Given the description of an element on the screen output the (x, y) to click on. 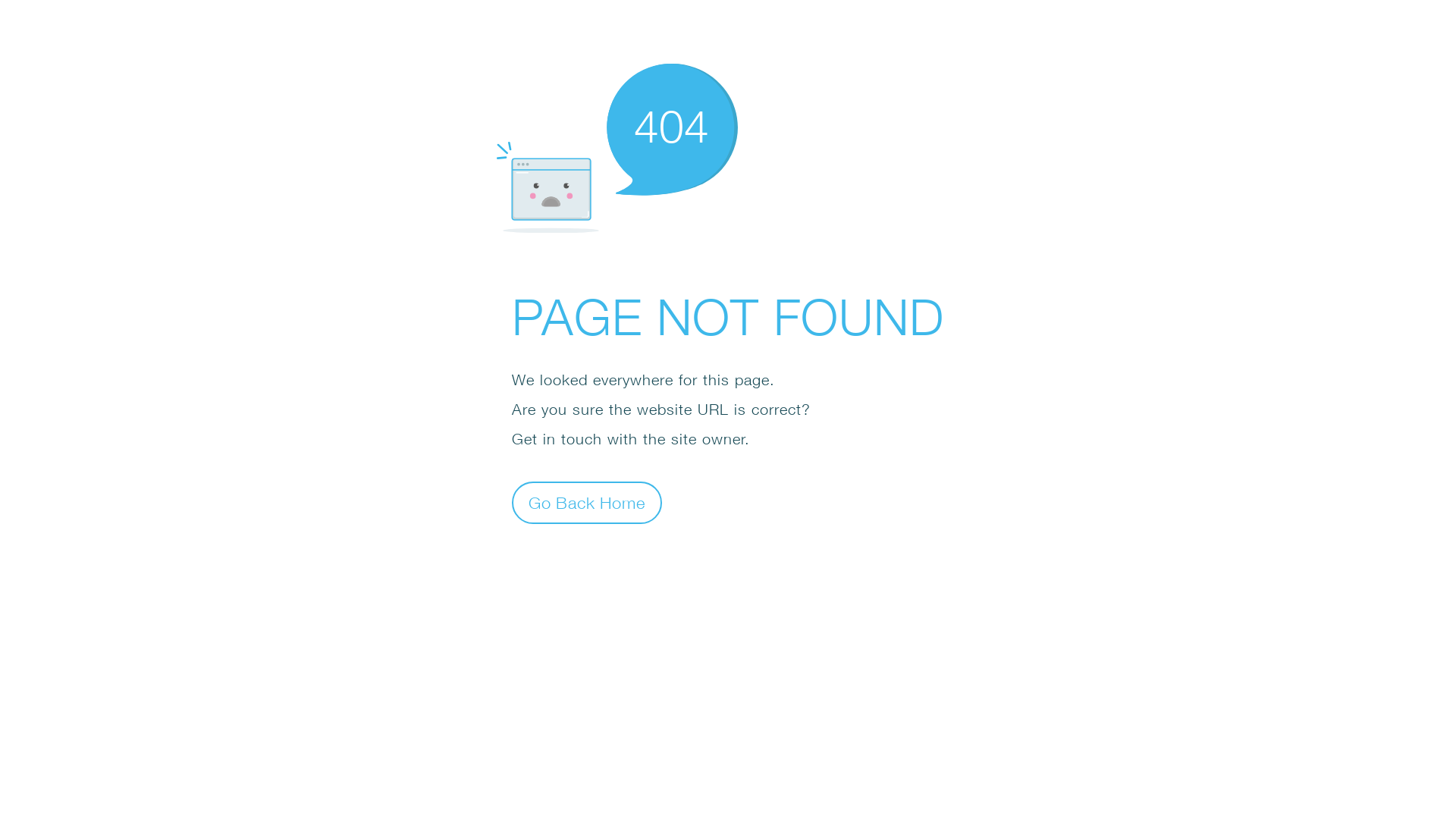
Go Back Home Element type: text (586, 502)
